Given the description of an element on the screen output the (x, y) to click on. 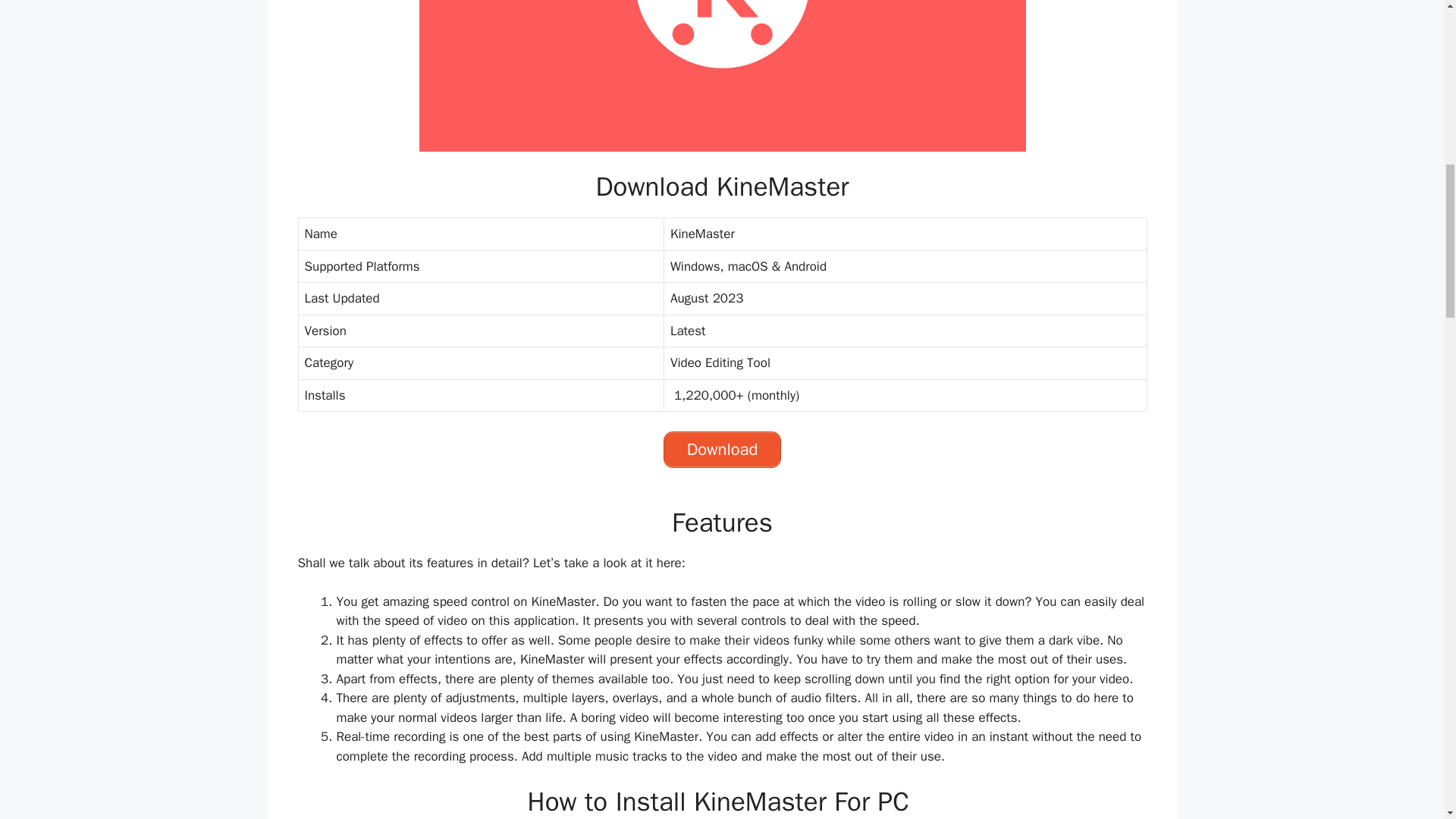
Download (722, 449)
